Given the description of an element on the screen output the (x, y) to click on. 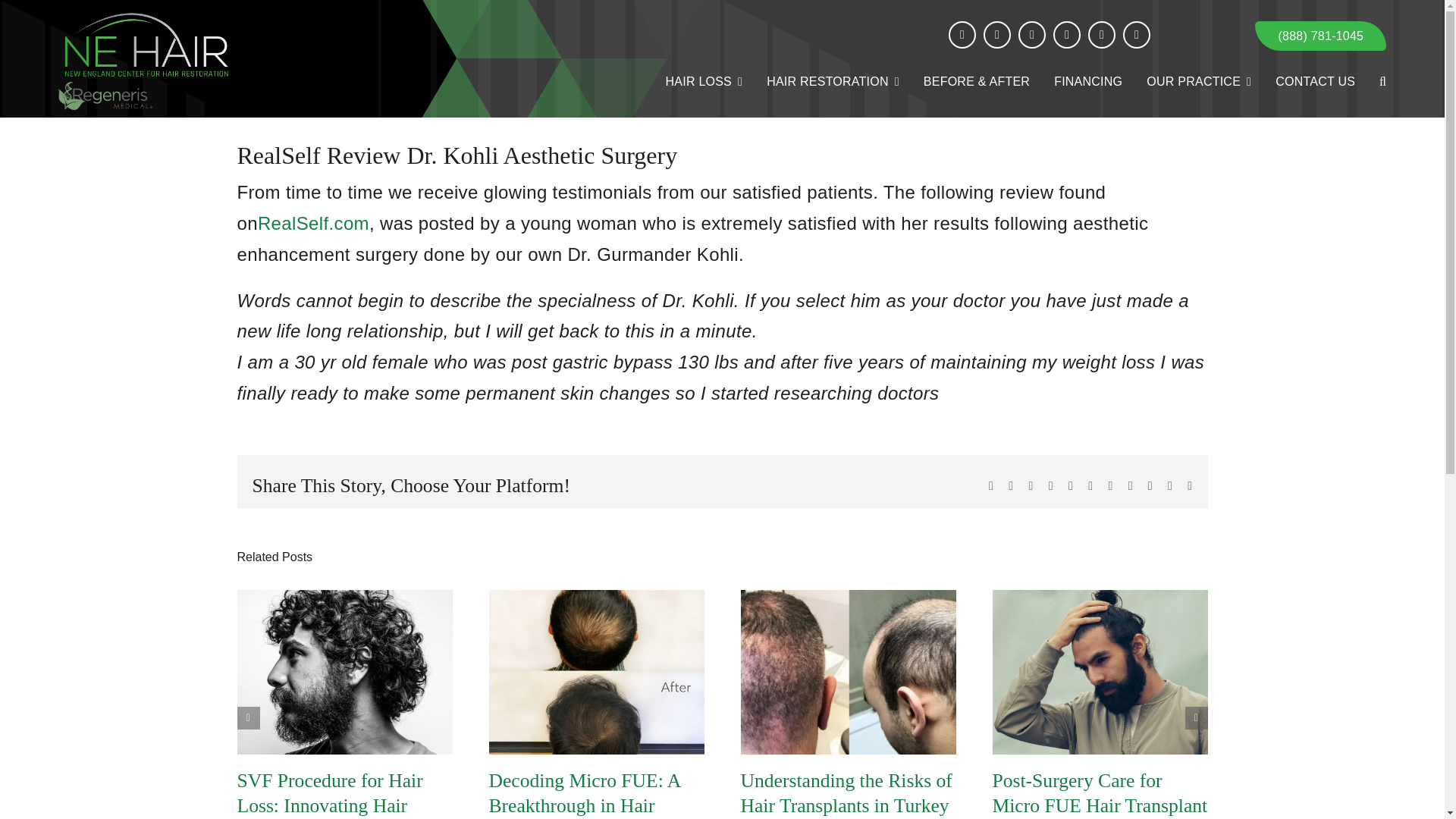
HAIR RESTORATION (833, 81)
X (997, 34)
Instagram (1031, 34)
YouTube (1101, 34)
Call us now! (1320, 35)
HAIR LOSS (703, 81)
Pinterest (1066, 34)
LinkedIn (1136, 34)
Facebook (962, 34)
